Given the description of an element on the screen output the (x, y) to click on. 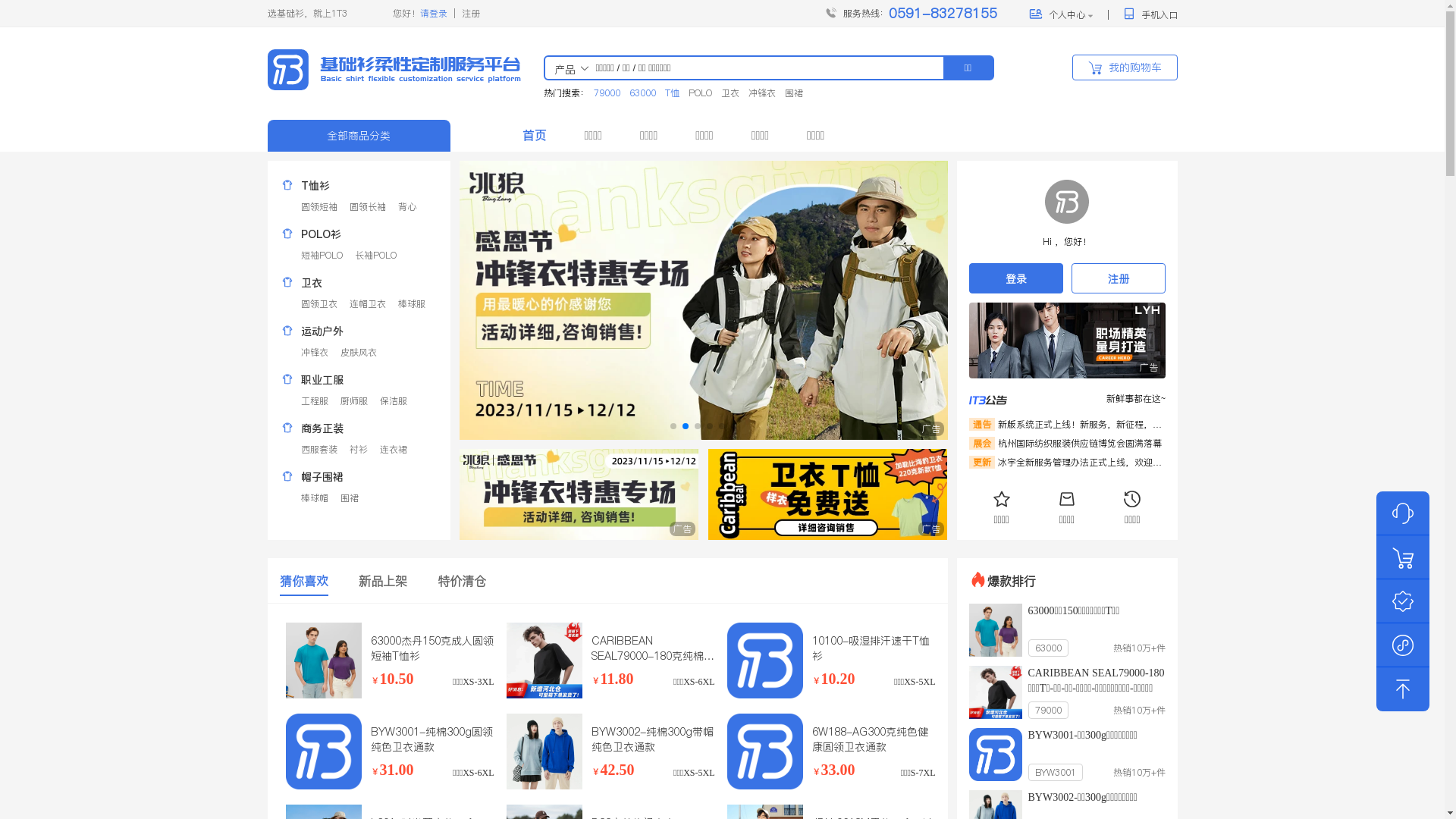
POLO Element type: text (700, 92)
63000 Element type: text (642, 92)
79000 Element type: text (606, 92)
